Given the description of an element on the screen output the (x, y) to click on. 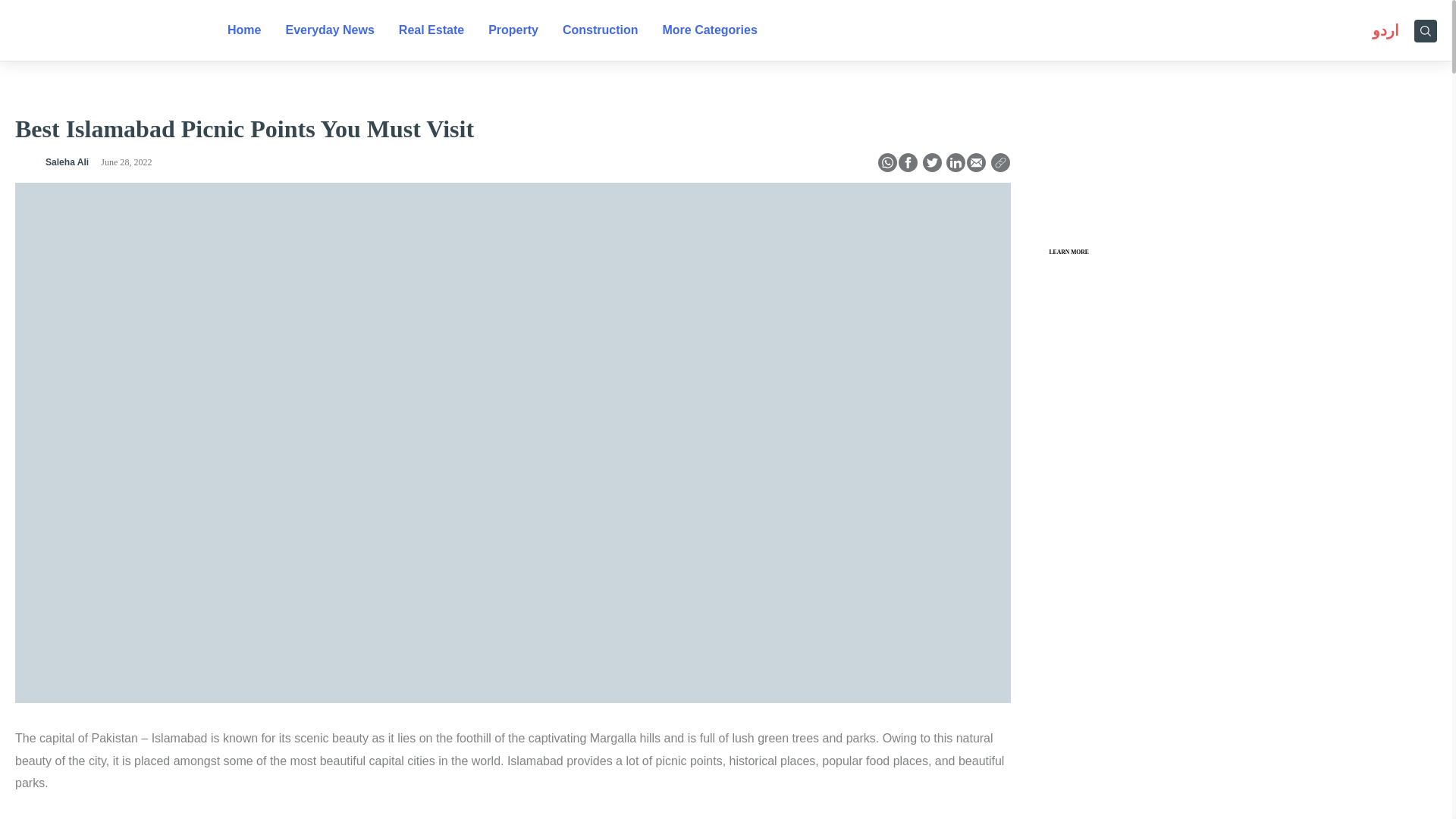
See More Categories (708, 30)
Saleha Ali (23, 163)
More Categories (708, 30)
Search (1425, 29)
Real Estate (431, 30)
Property (513, 30)
Home (244, 30)
View all posts by Saleha Ali (66, 162)
Copy to Clipboard (1000, 164)
Everyday News (329, 30)
Saleha Ali (66, 162)
Construction (600, 30)
